Given the description of an element on the screen output the (x, y) to click on. 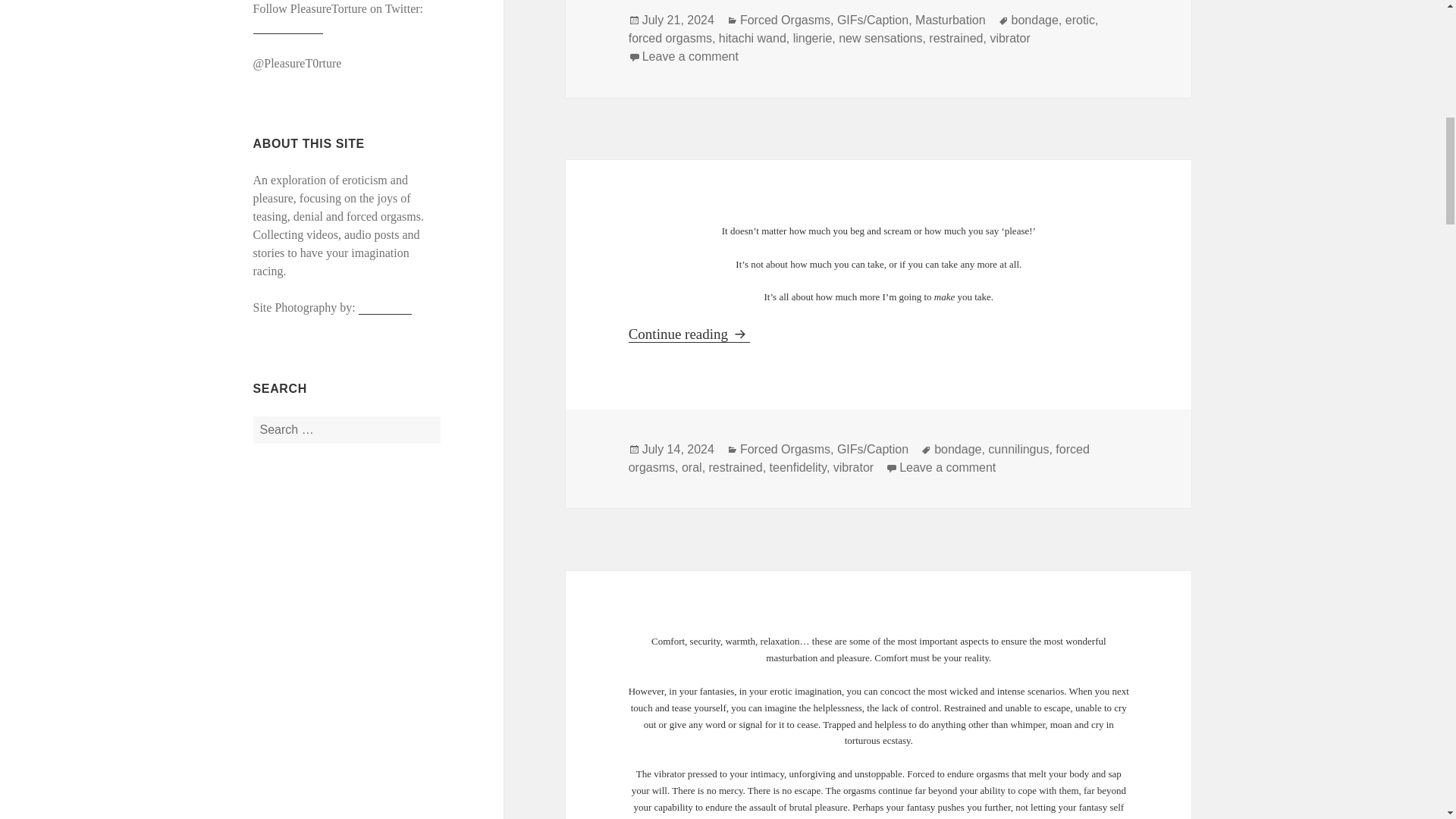
Forced Orgasms (784, 449)
hitachi wand (752, 38)
July 21, 2024 (678, 20)
restrained (955, 38)
new sensations (879, 38)
bondage (1034, 20)
Forced Orgasms (784, 20)
Masturbation (950, 20)
vibrator (1009, 38)
bondage (957, 449)
forced orgasms (690, 56)
Search (669, 38)
